Given the description of an element on the screen output the (x, y) to click on. 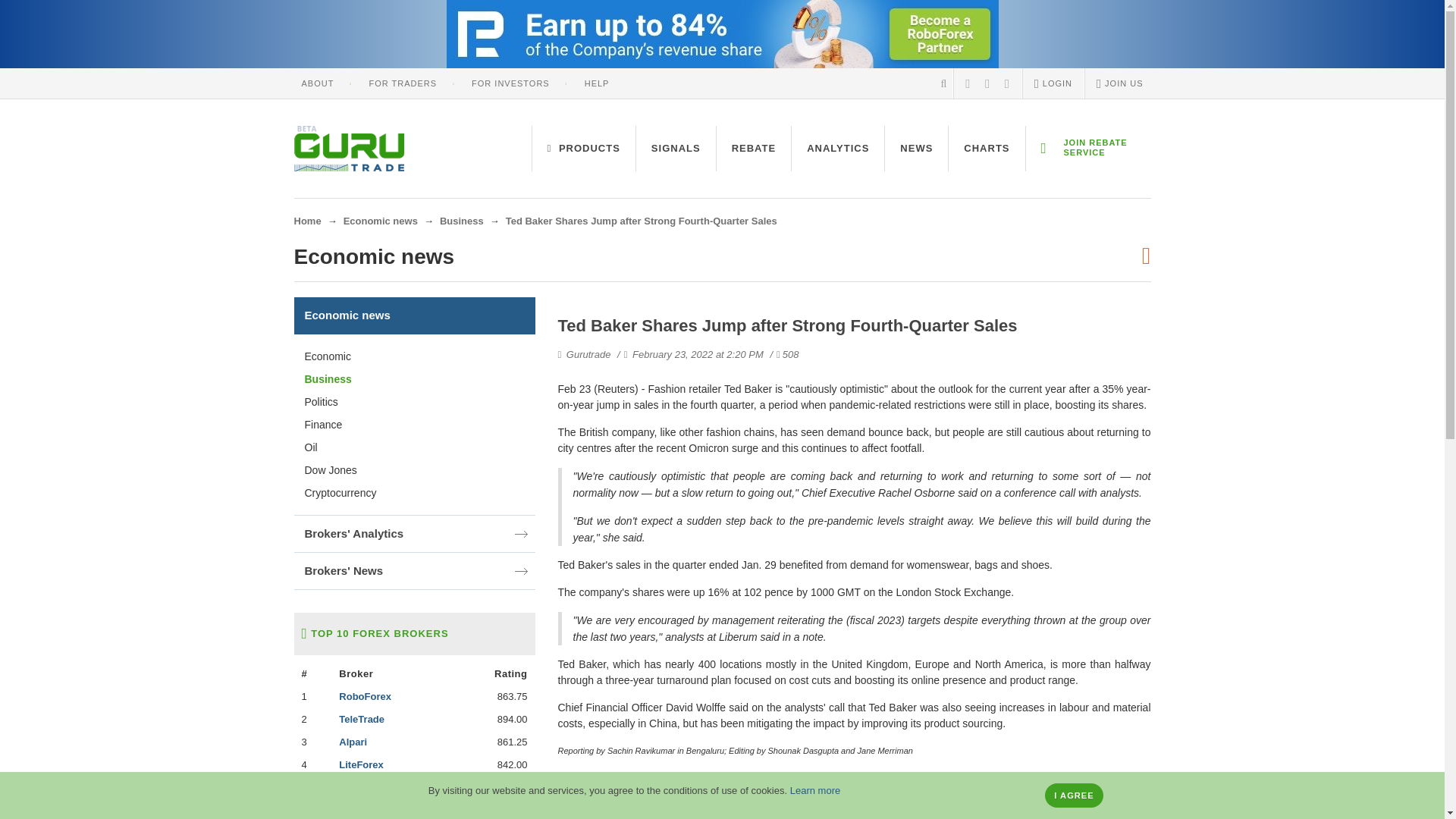
JOIN REBATE SERVICE (1087, 148)
Views of this review (778, 354)
Facebook (987, 82)
ANALYTICS (837, 148)
Business (461, 221)
Twitter (1007, 82)
SIGNALS (676, 148)
REBATE (753, 148)
LOGIN (1052, 82)
JOIN US (1119, 82)
HELP (597, 82)
RSS (968, 82)
PRODUCTS (583, 148)
Economic news (380, 221)
FOR INVESTORS (510, 82)
